Given the description of an element on the screen output the (x, y) to click on. 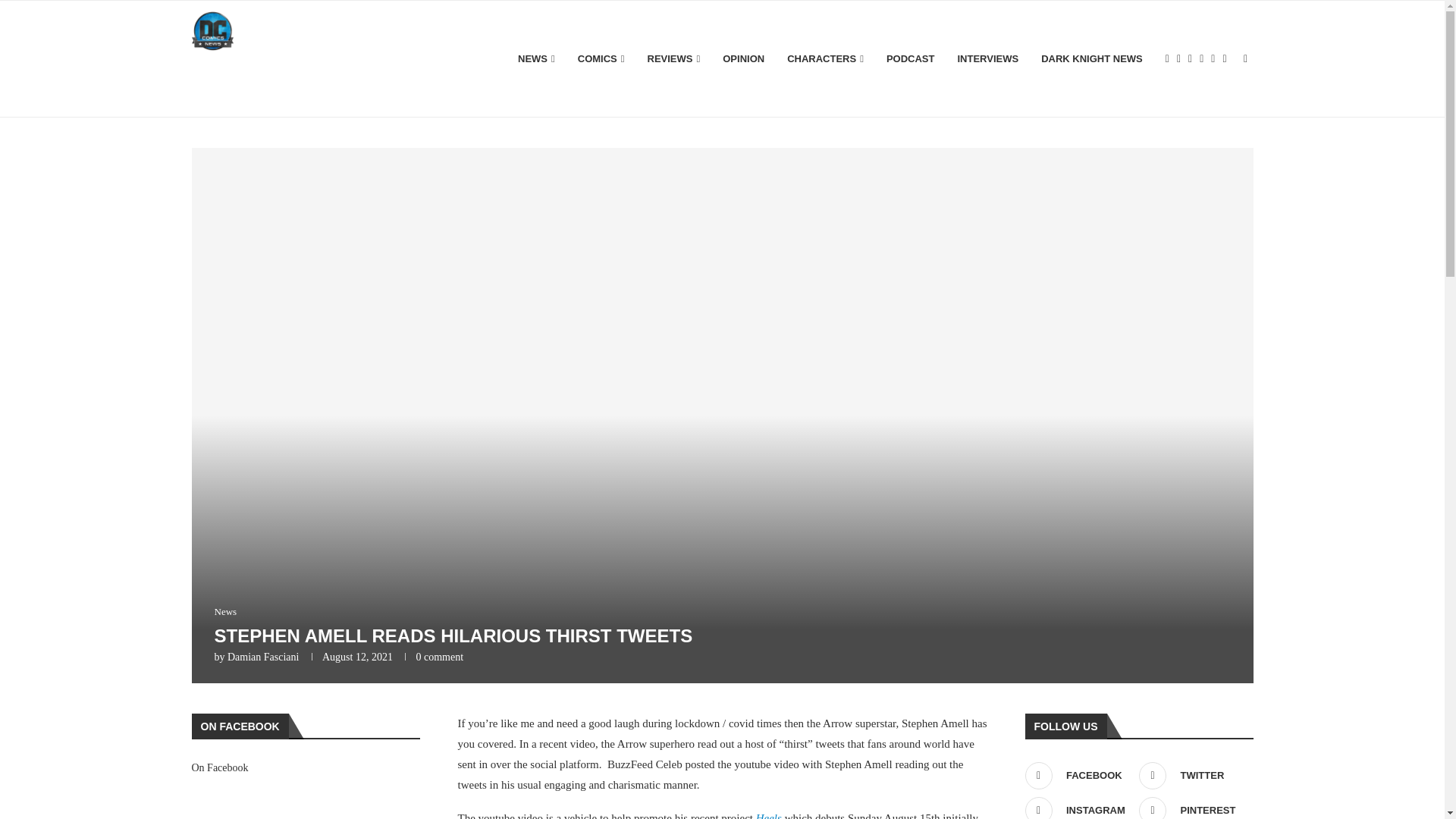
News (224, 612)
